Given the description of an element on the screen output the (x, y) to click on. 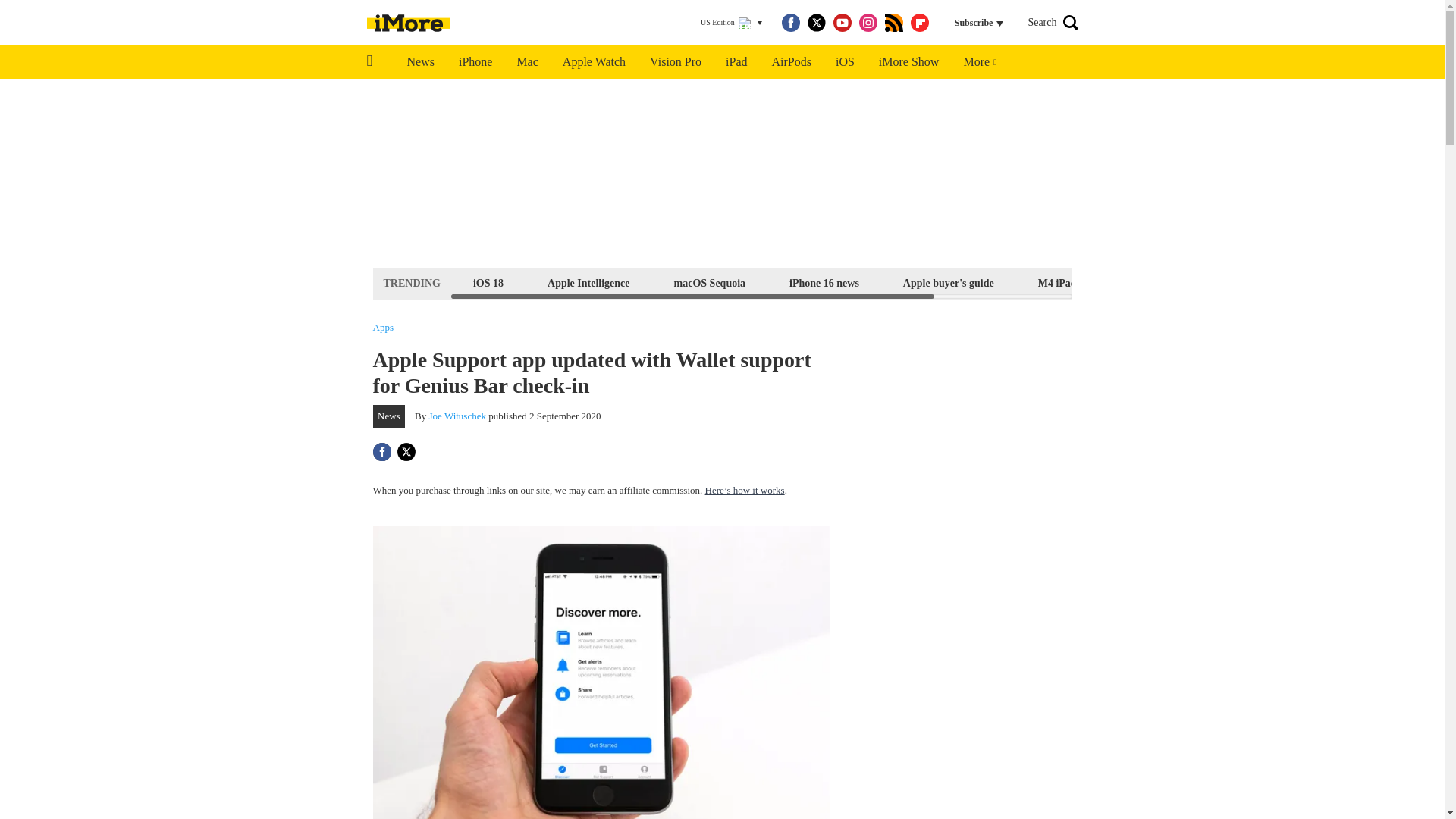
iPhone (474, 61)
US Edition (731, 22)
iPad (735, 61)
iOS (845, 61)
News (419, 61)
Apple Watch (593, 61)
Vision Pro (675, 61)
iMore Show (909, 61)
Mac (526, 61)
AirPods (792, 61)
